Given the description of an element on the screen output the (x, y) to click on. 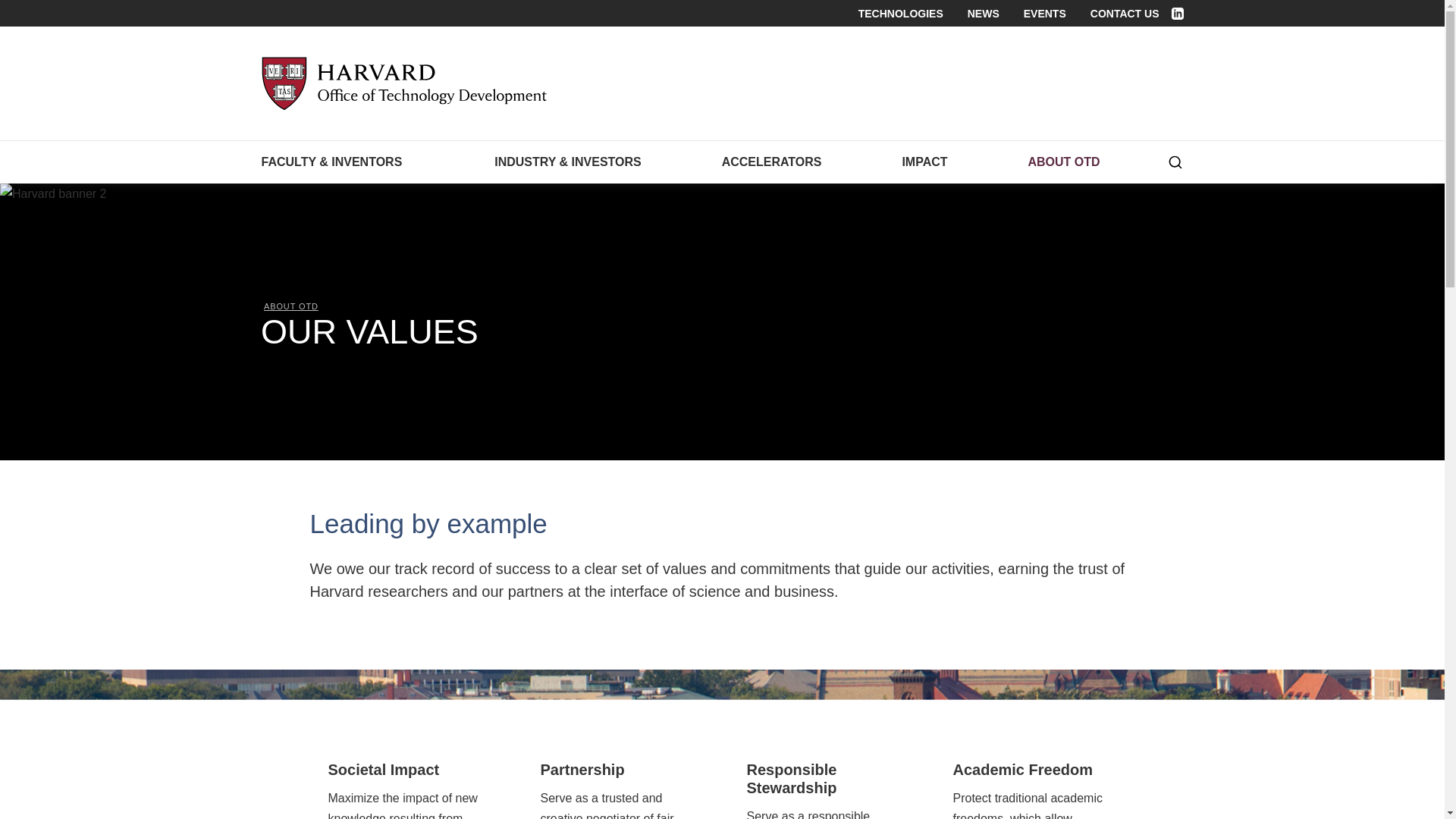
TECHNOLOGIES (901, 13)
NEWS (983, 13)
ABOUT OTD (1056, 161)
EVENTS (1044, 13)
ACCELERATORS (772, 161)
CONTACT US (1124, 13)
Linked In (1176, 13)
